Given the description of an element on the screen output the (x, y) to click on. 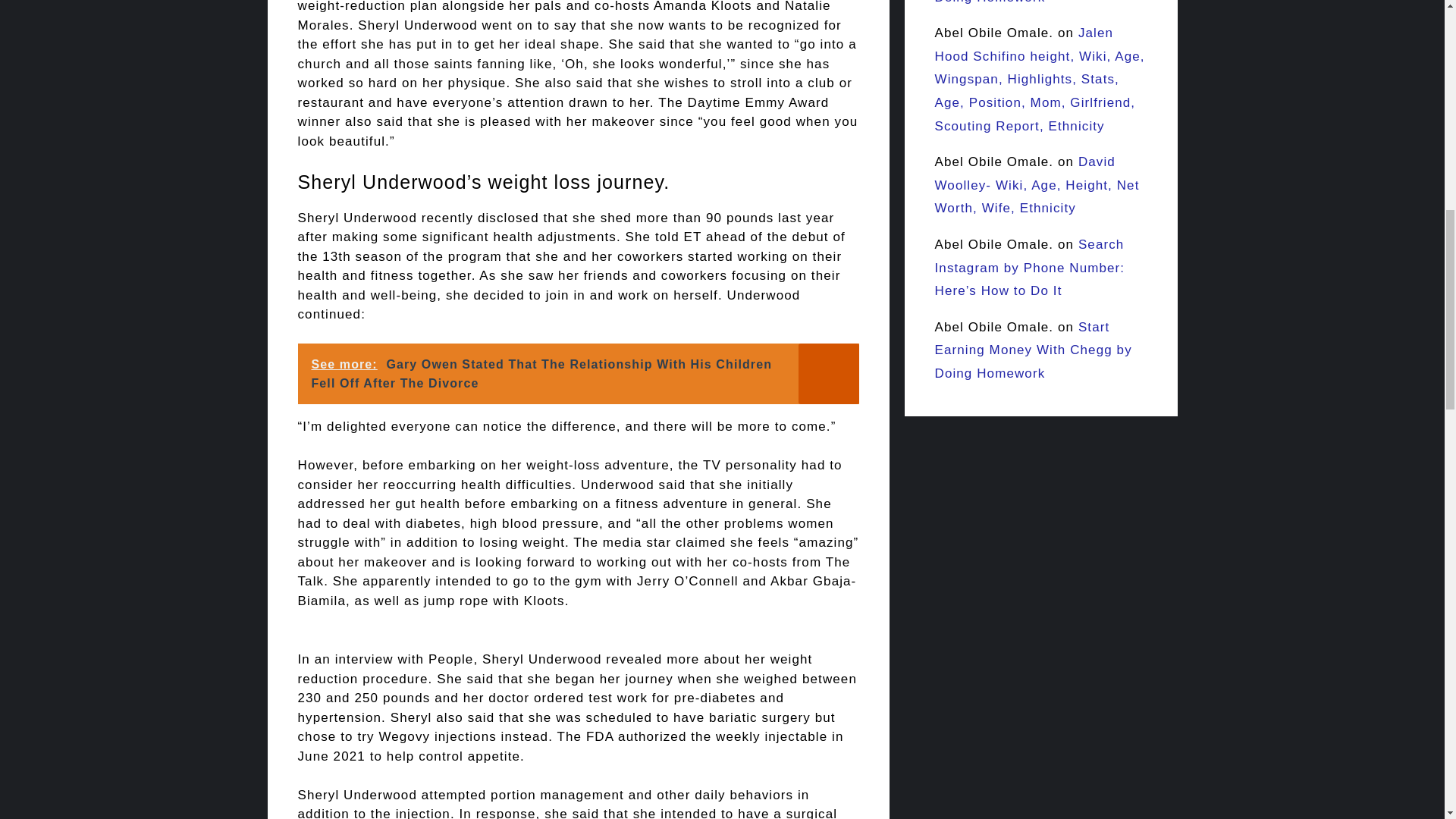
Start Earning Money With Chegg by Doing Homework (1032, 2)
Start Earning Money With Chegg by Doing Homework (1032, 350)
David Woolley- Wiki, Age, Height, Net Worth, Wife, Ethnicity (1036, 184)
